Given the description of an element on the screen output the (x, y) to click on. 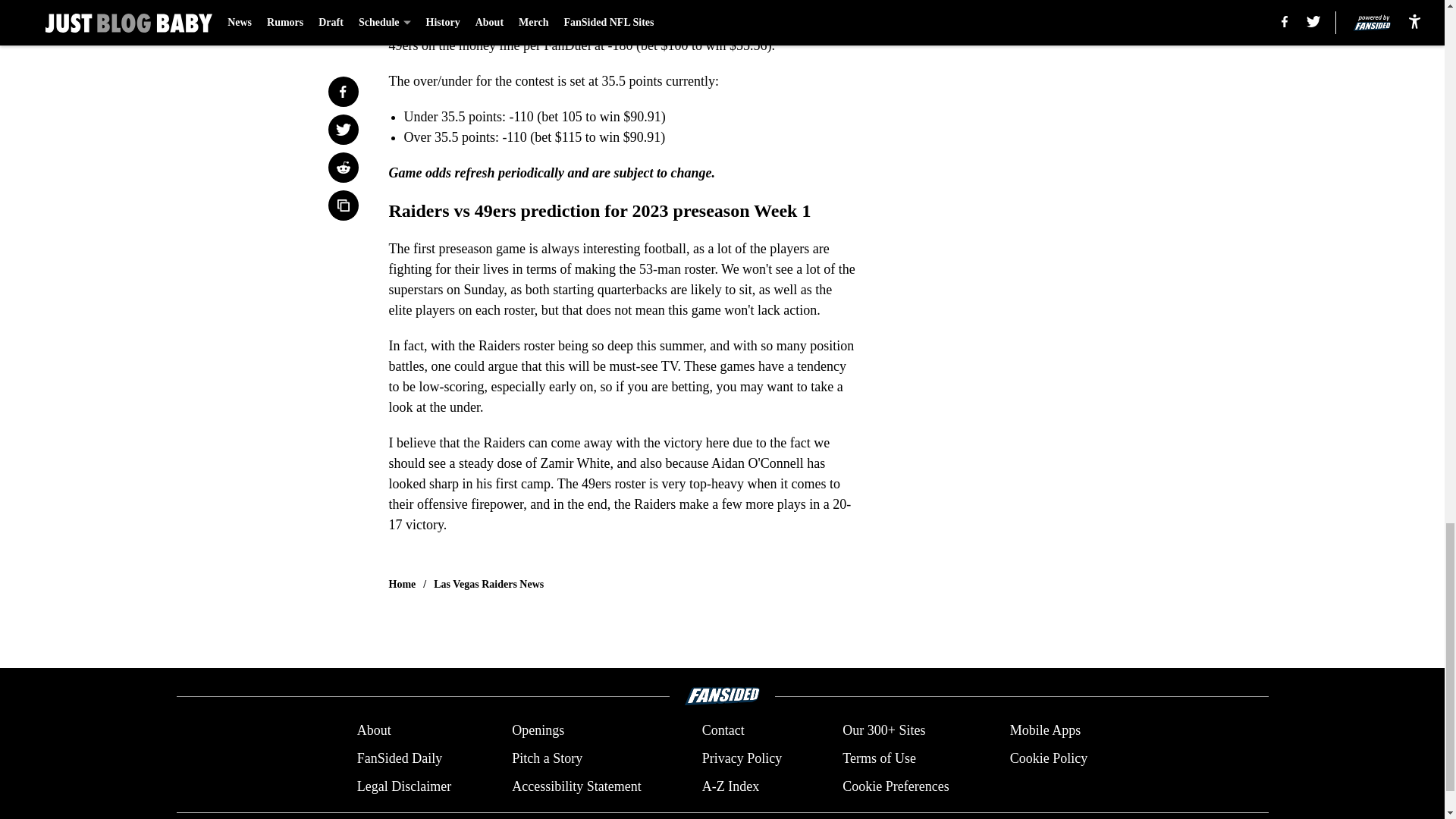
Privacy Policy (742, 758)
Accessibility Statement (576, 786)
Terms of Use (879, 758)
Cookie Preferences (896, 786)
FanSided Daily (399, 758)
Las Vegas Raiders News (488, 584)
Legal Disclaimer (403, 786)
Cookie Policy (1048, 758)
About (373, 730)
A-Z Index (729, 786)
